Given the description of an element on the screen output the (x, y) to click on. 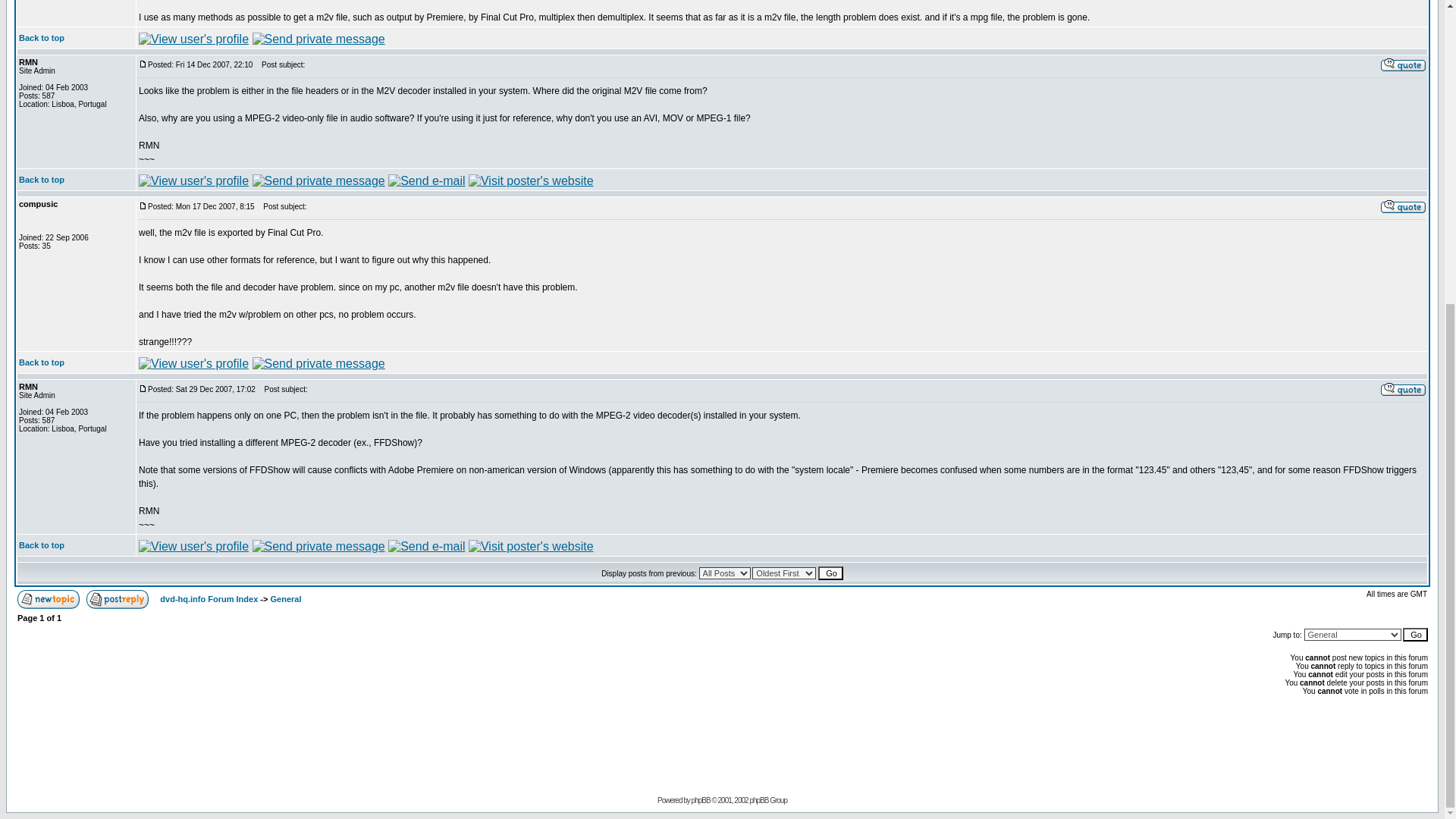
Go (830, 572)
Back to top (41, 37)
Go (1415, 634)
Back to top (41, 179)
Back to top (41, 361)
